Given the description of an element on the screen output the (x, y) to click on. 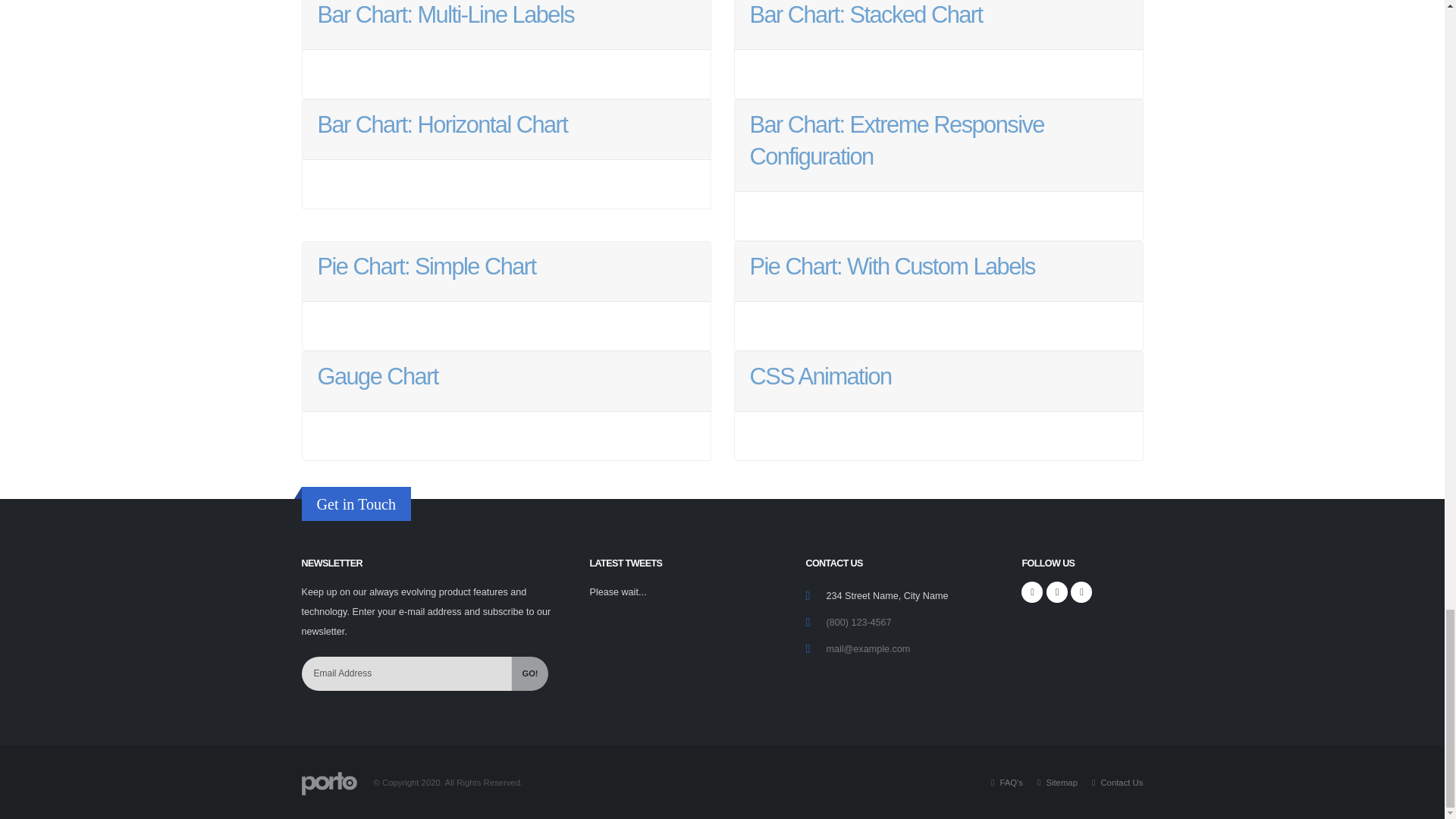
Twitter (1056, 591)
Facebook (1032, 591)
Linkedin (1081, 591)
